Given the description of an element on the screen output the (x, y) to click on. 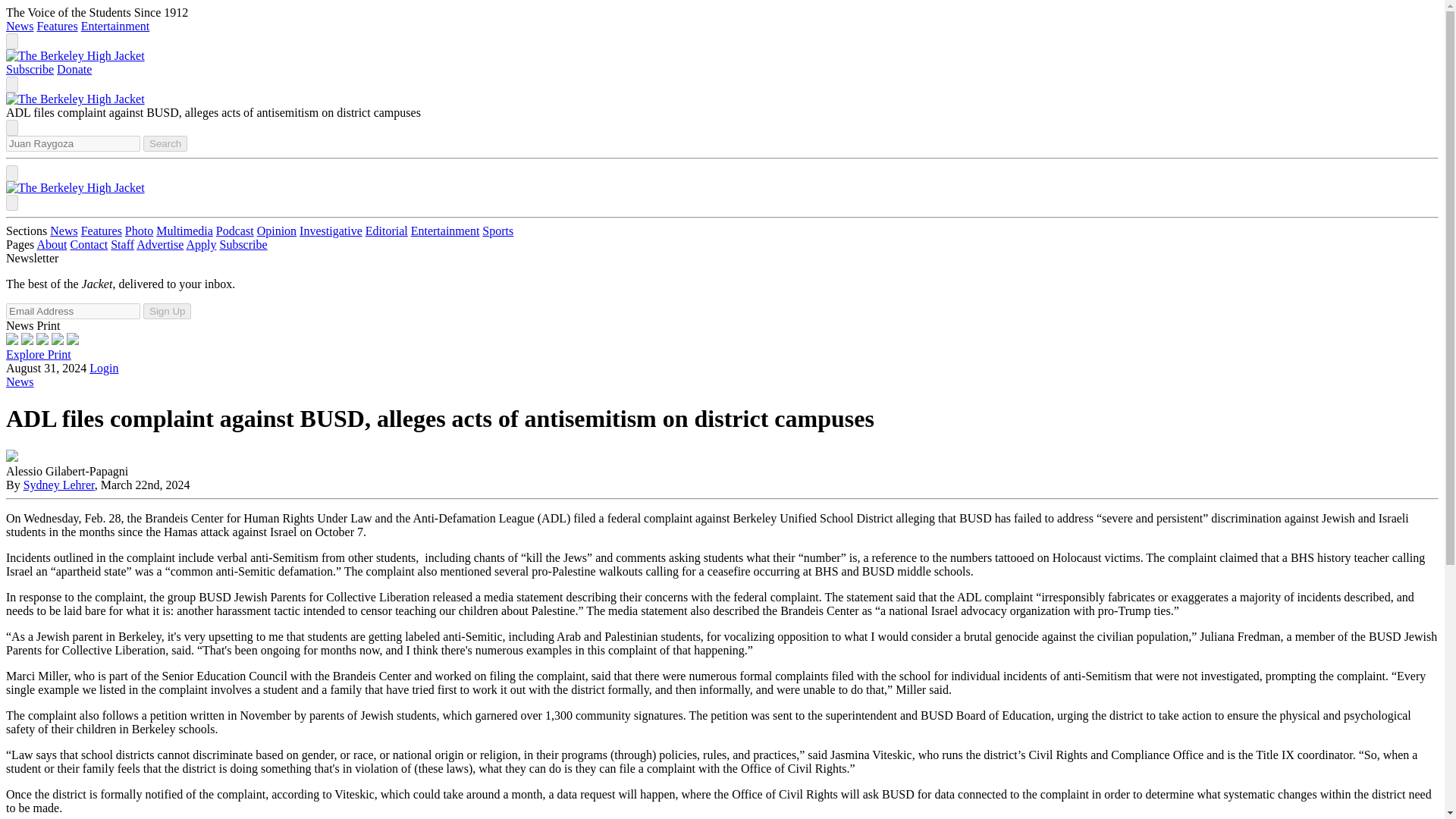
Entertainment (115, 25)
Investigative (330, 230)
News (63, 230)
Sydney Lehrer (58, 484)
Explore Print (38, 354)
Podcast (234, 230)
Subscribe (242, 244)
Sports (497, 230)
Contact (88, 244)
About (51, 244)
